Given the description of an element on the screen output the (x, y) to click on. 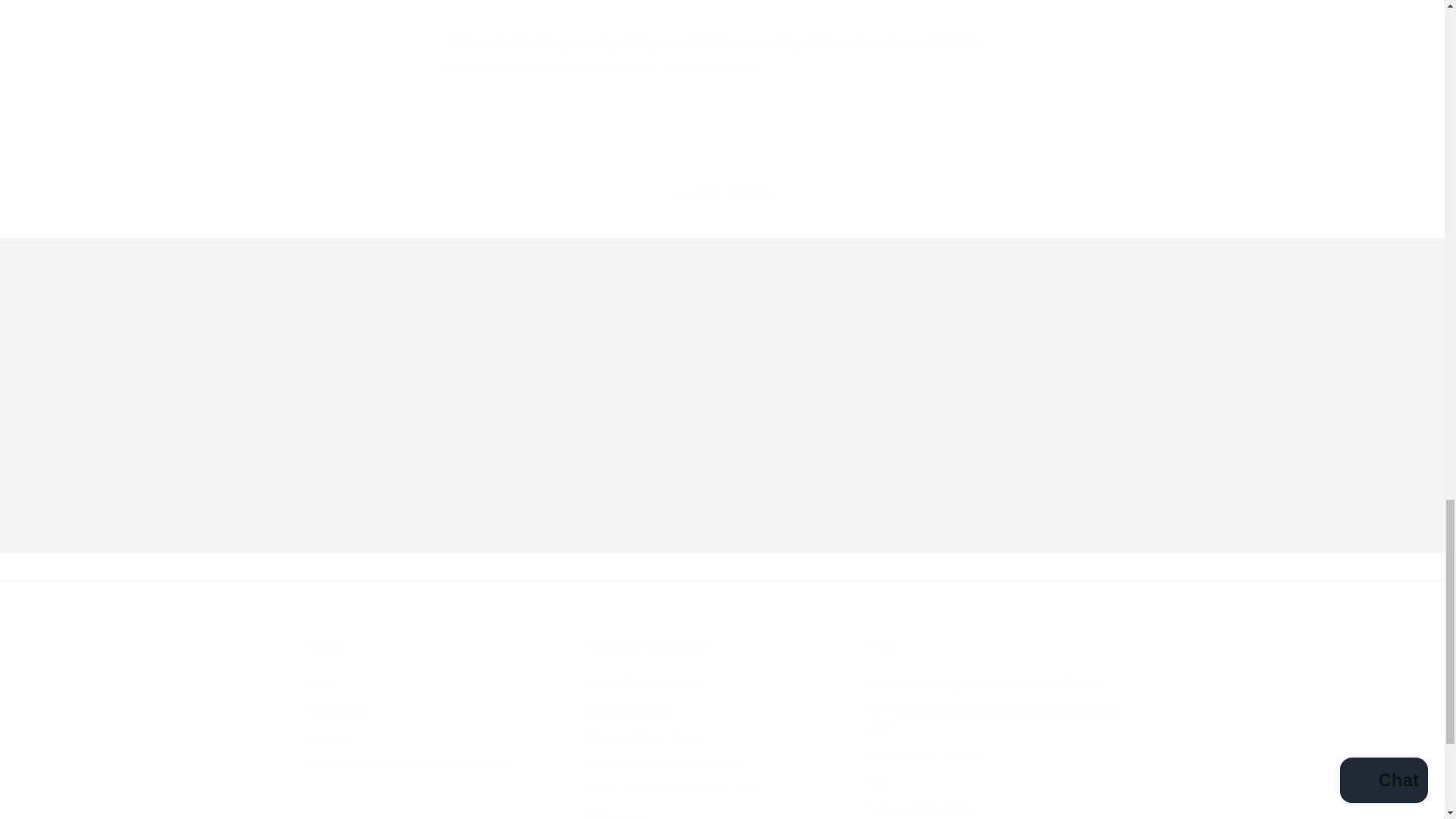
Post comment (510, 522)
